Given the description of an element on the screen output the (x, y) to click on. 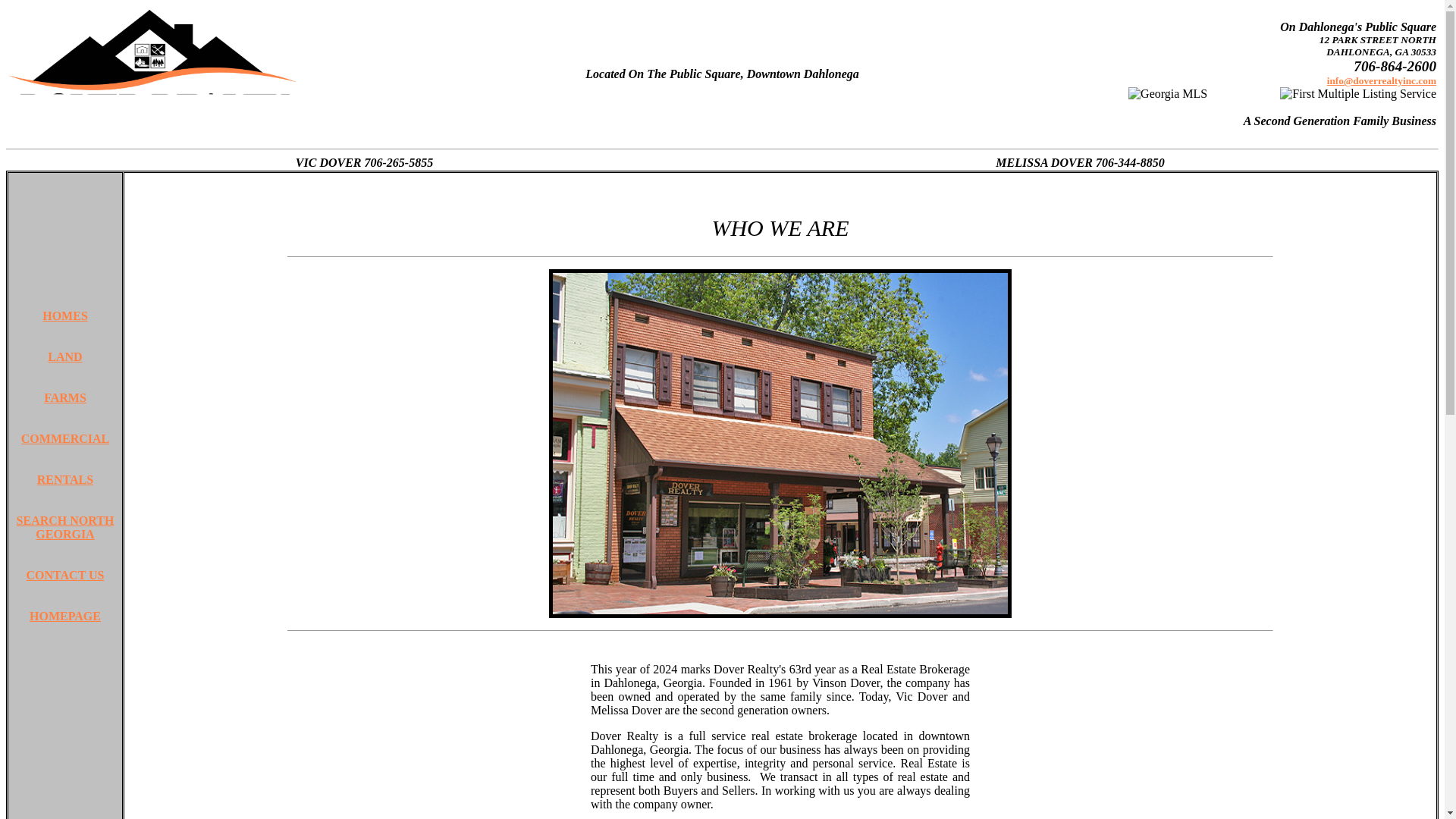
HOMEPAGE (64, 615)
CONTACT US (64, 574)
FARMS (64, 397)
SEARCH NORTH GEORGIA (65, 527)
COMMERCIAL (65, 438)
HOMES (64, 315)
RENTALS (65, 479)
LAND (64, 356)
